Given the description of an element on the screen output the (x, y) to click on. 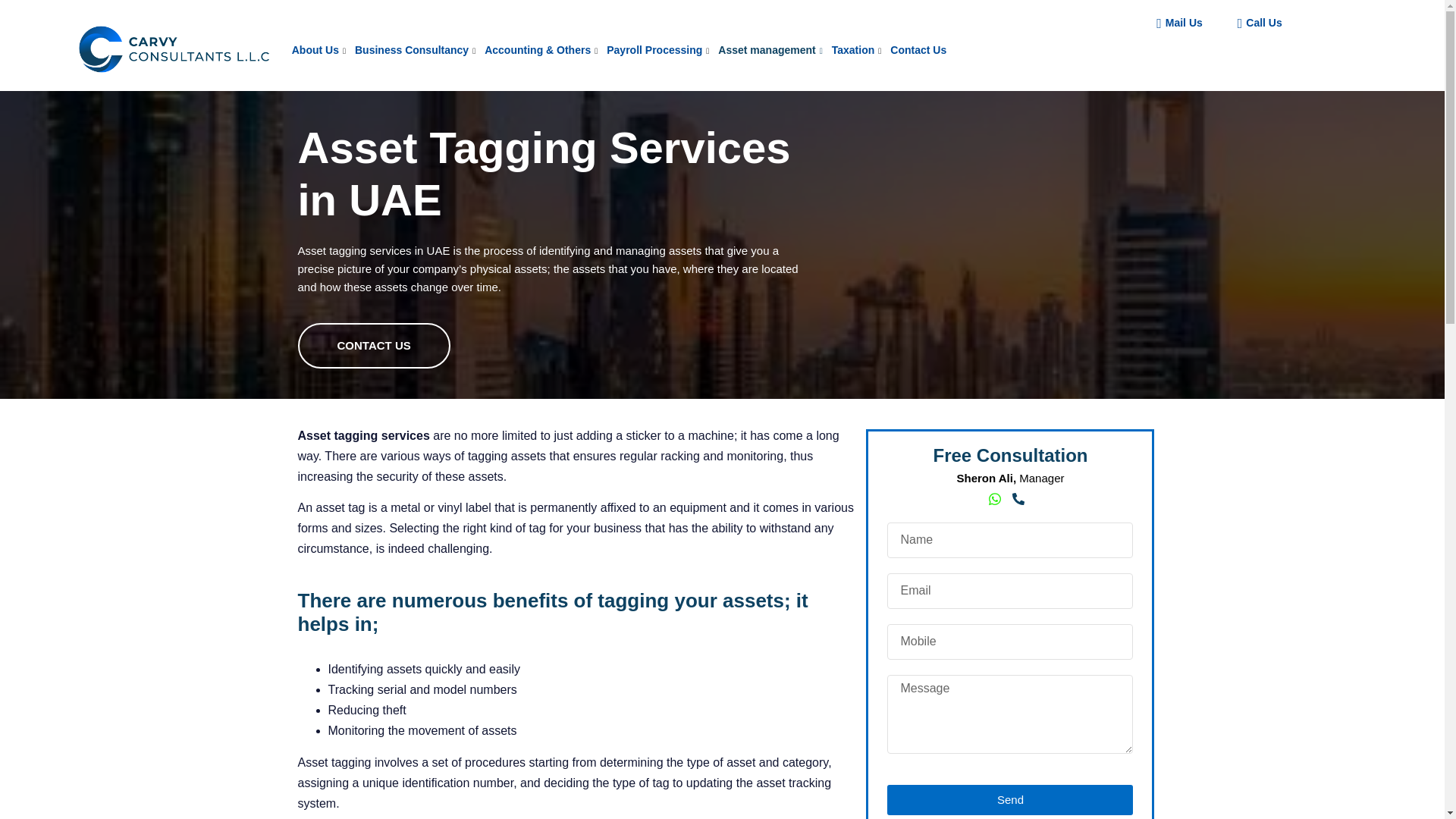
Mail Us (1173, 23)
About Us (321, 50)
Opens a widget where you can chat to one of our agents (1387, 792)
Payroll Processing (660, 50)
Call Us (1253, 23)
Business Consultancy (418, 50)
